Given the description of an element on the screen output the (x, y) to click on. 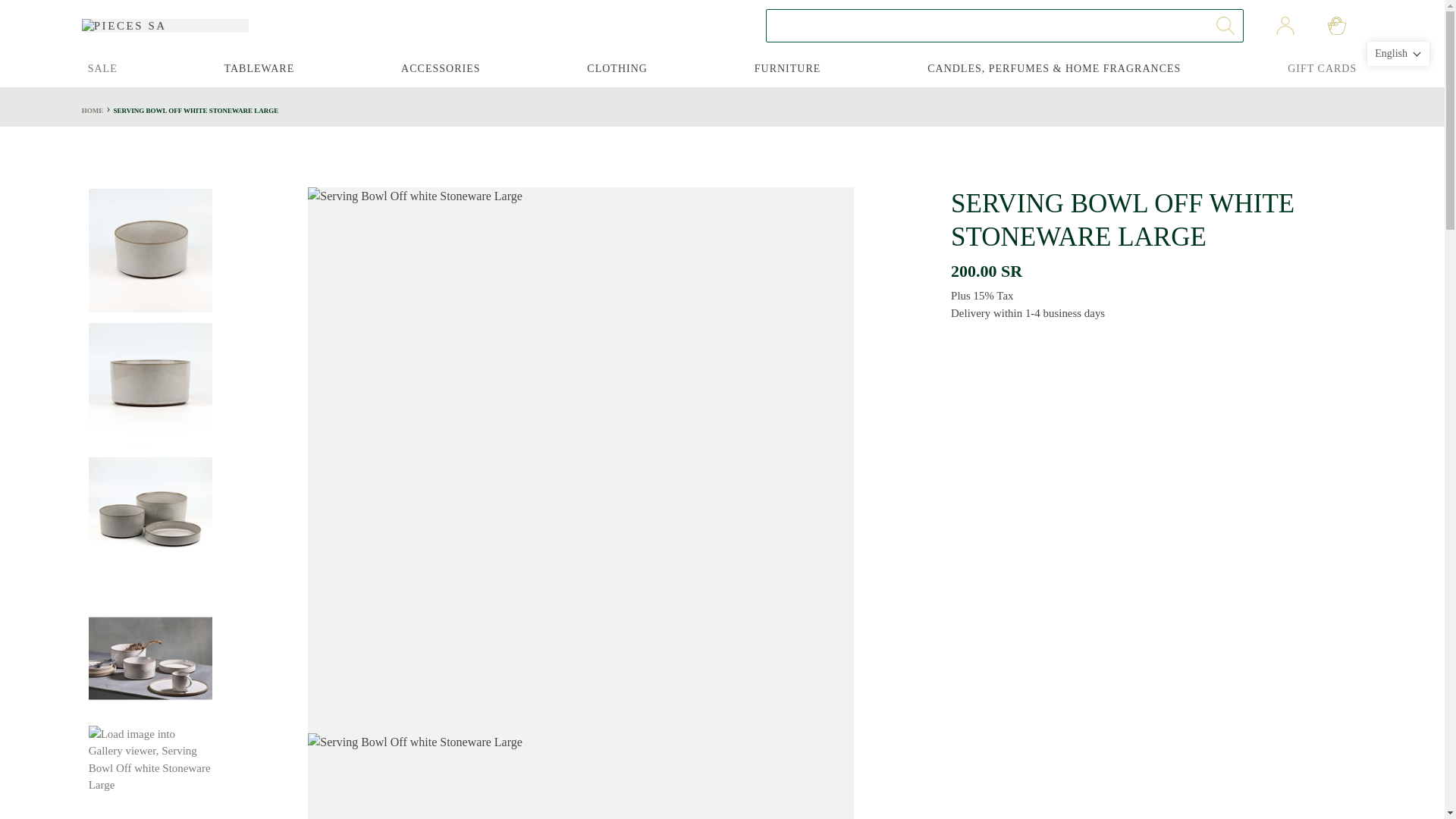
Cart (1336, 26)
Home (92, 110)
Submit (1225, 25)
Log in (1285, 26)
